Given the description of an element on the screen output the (x, y) to click on. 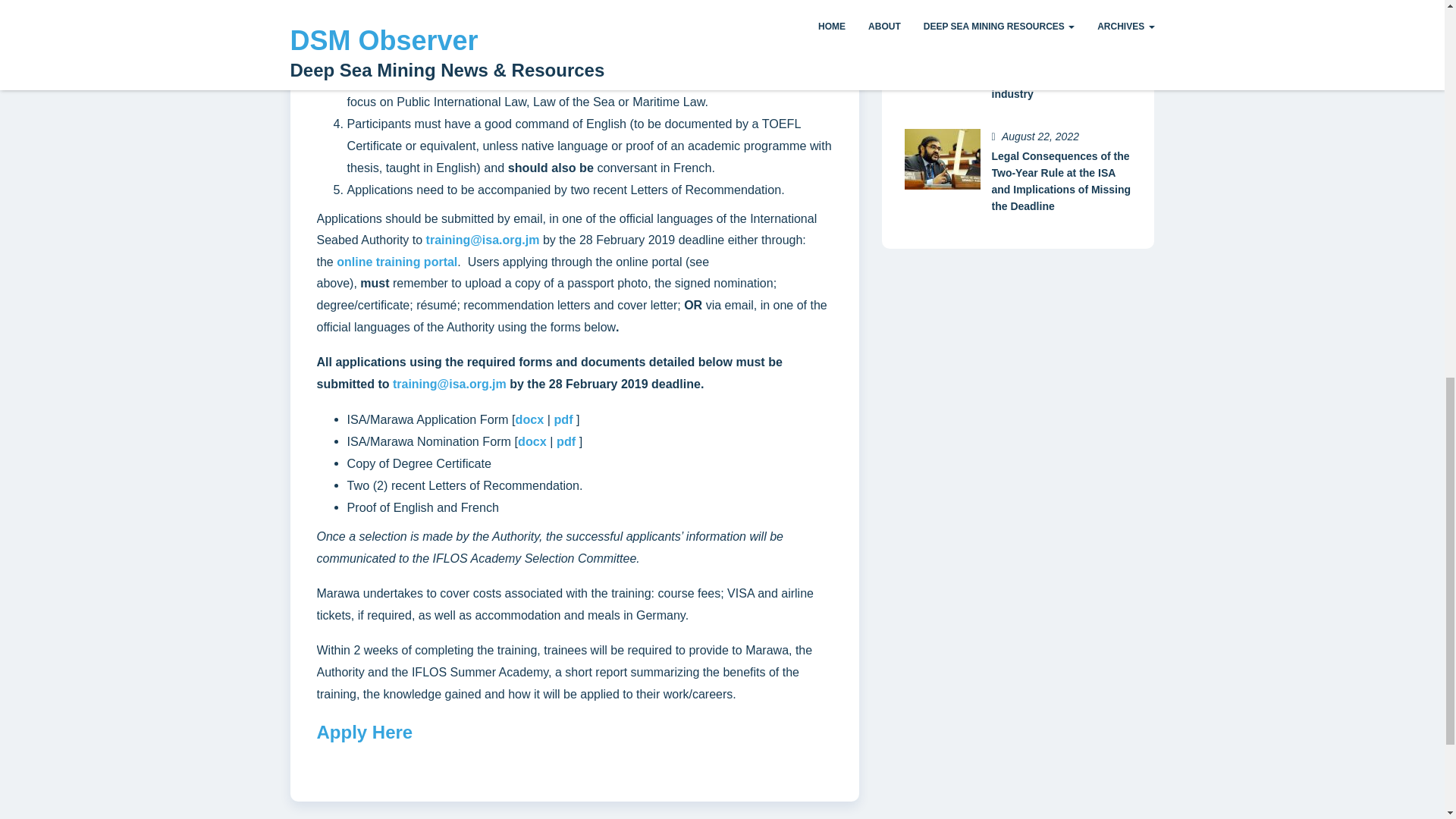
docx (529, 418)
Apply Here (365, 731)
docx (532, 440)
pdf (562, 418)
pdf (565, 440)
online training portal (396, 261)
